Given the description of an element on the screen output the (x, y) to click on. 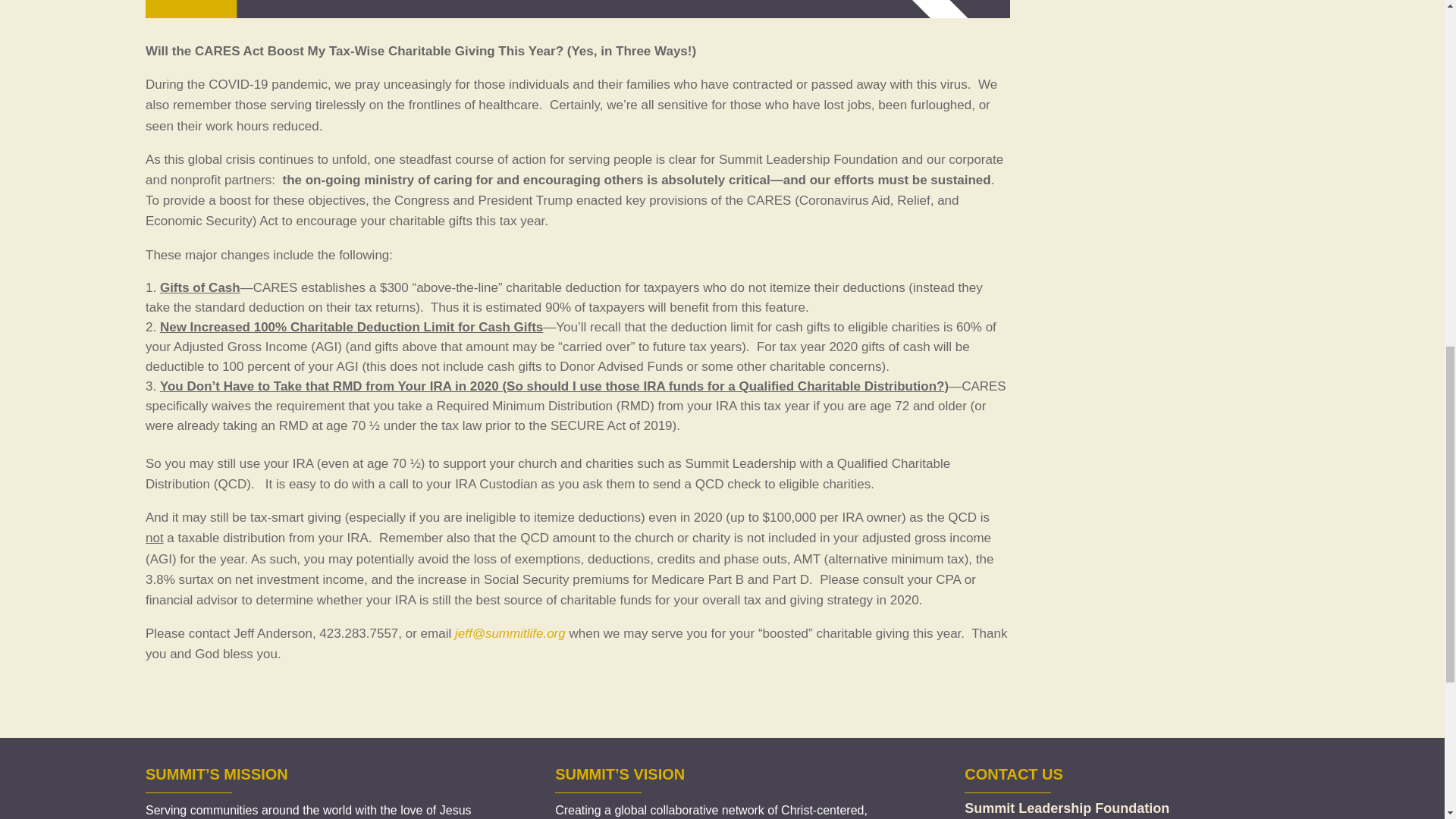
CARES ACT BLOG (577, 9)
